Given the description of an element on the screen output the (x, y) to click on. 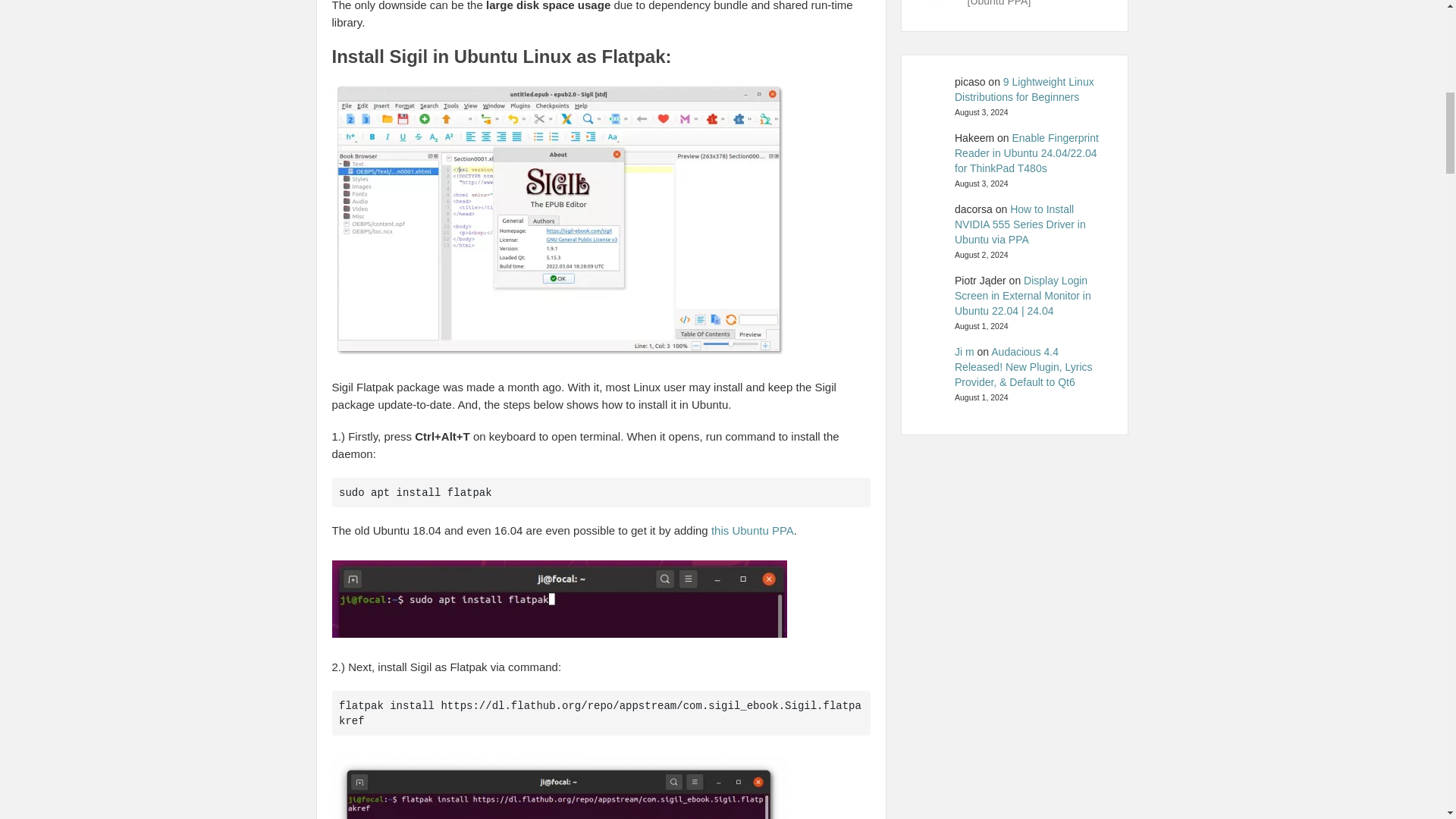
this Ubuntu PPA (752, 530)
